Given the description of an element on the screen output the (x, y) to click on. 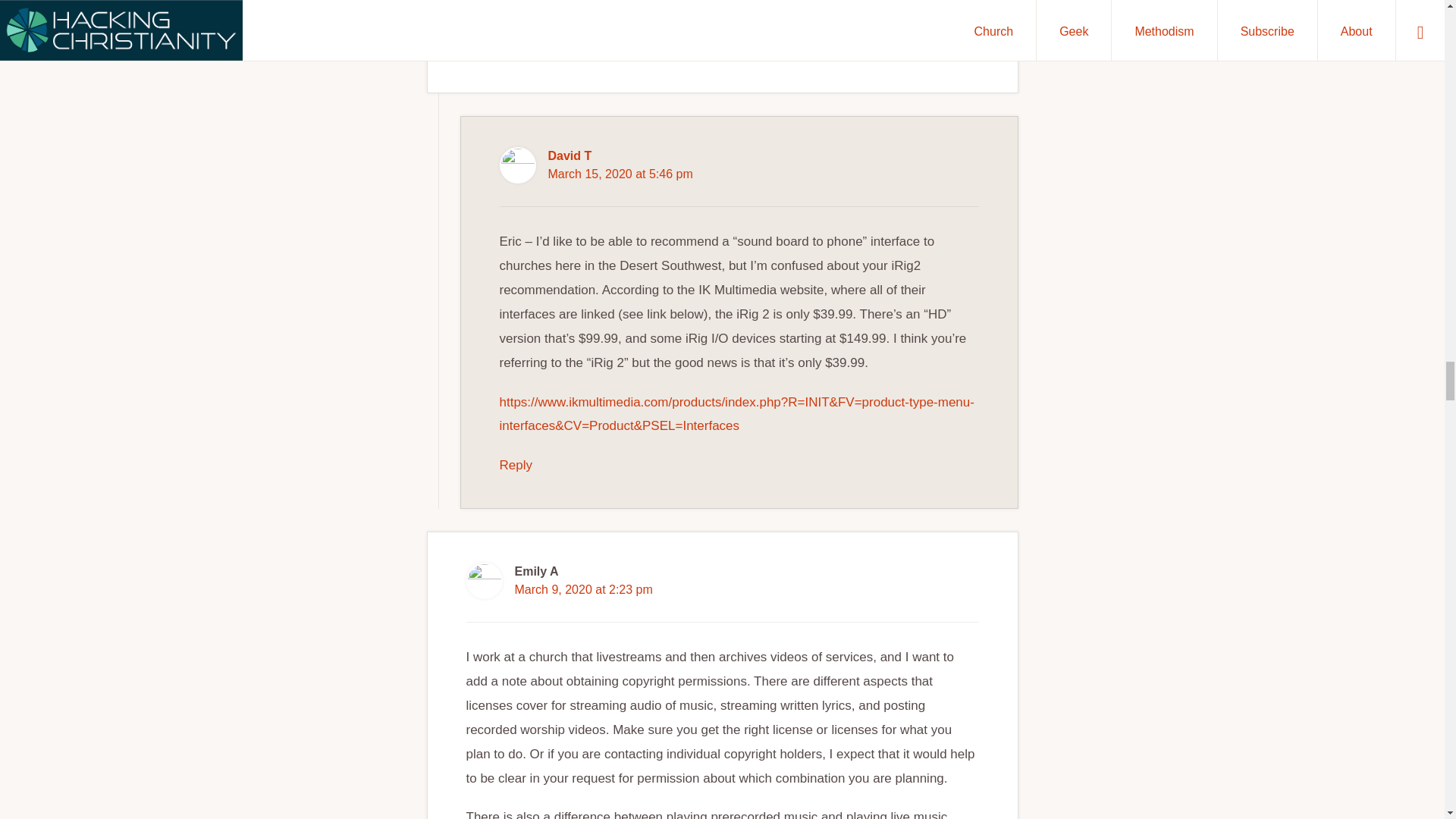
David T (569, 155)
March 15, 2020 at 5:46 pm (620, 173)
Reply (481, 49)
